Given the description of an element on the screen output the (x, y) to click on. 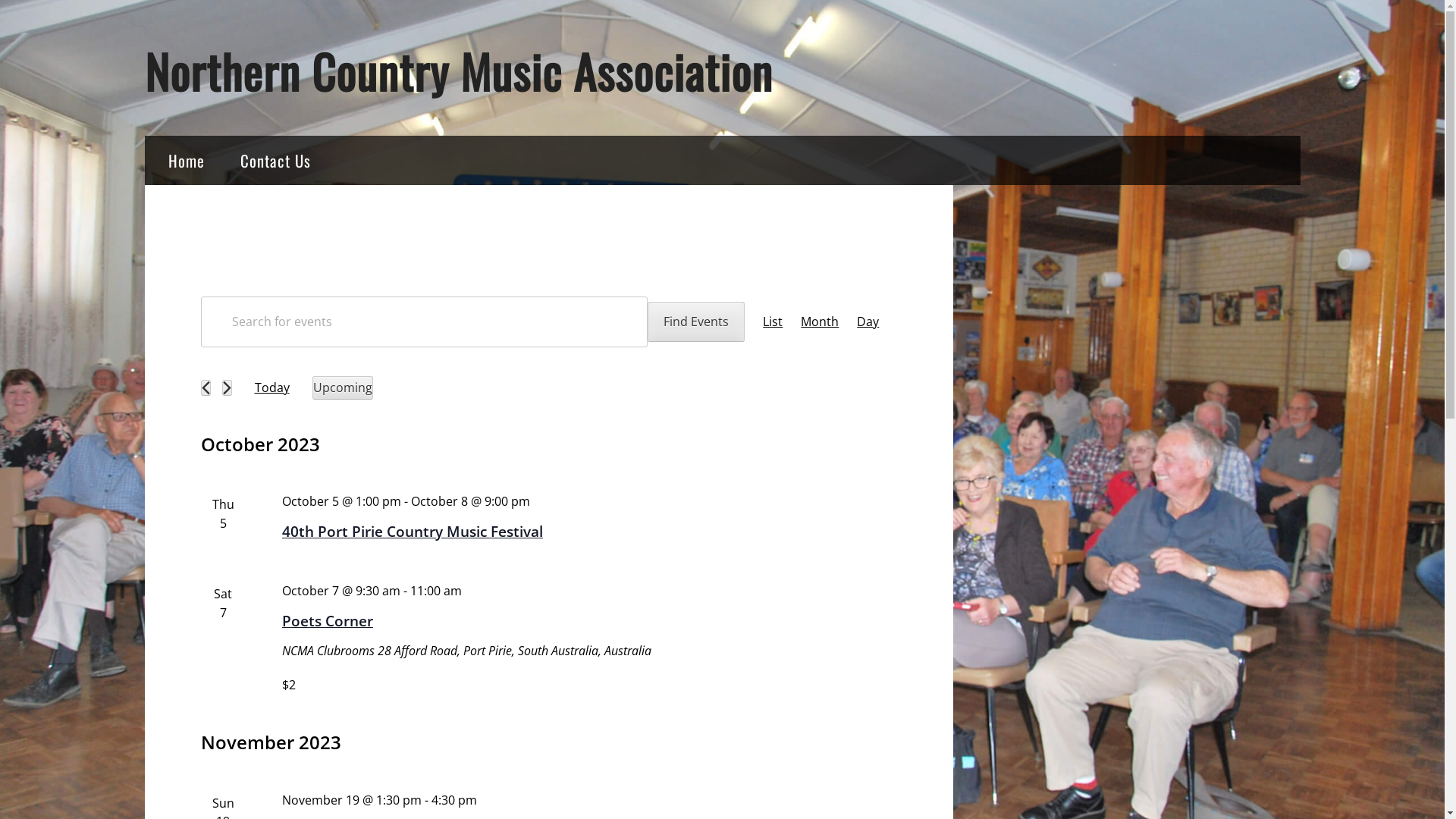
Month Element type: text (819, 321)
Next Events Element type: hover (226, 387)
List Element type: text (772, 321)
Northern Country Music Association Element type: text (457, 70)
Find Events Element type: text (695, 321)
Previous Events Element type: hover (205, 387)
Upcoming Element type: text (342, 387)
Contact Us Element type: text (275, 160)
40th Port Pirie Country Music Festival Element type: text (412, 530)
Home Element type: text (185, 160)
Poets Corner Element type: text (327, 620)
Day Element type: text (867, 321)
Skip to content Element type: text (144, 35)
Today Element type: text (271, 387)
